Given the description of an element on the screen output the (x, y) to click on. 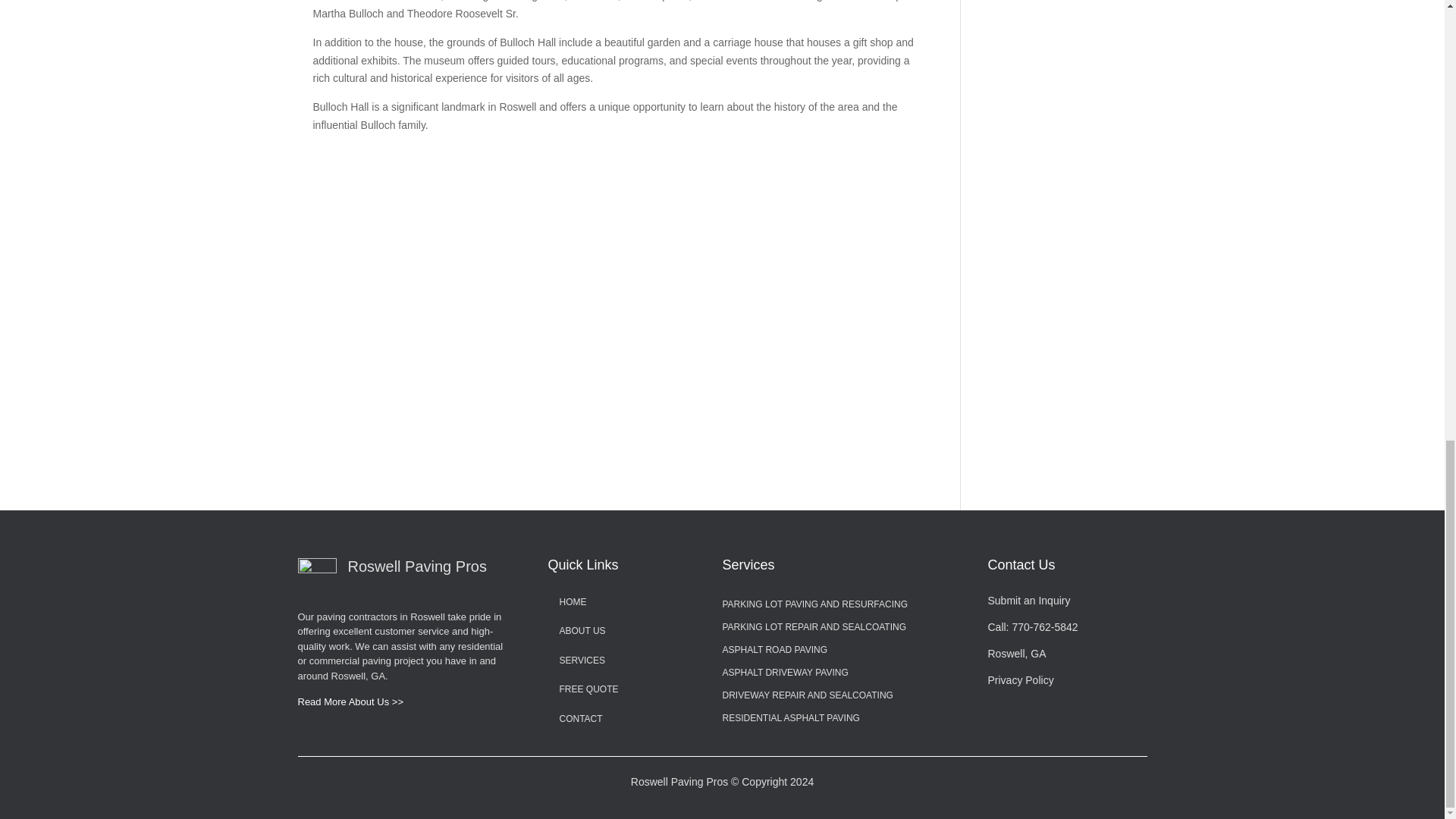
PARKING LOT PAVING AND RESURFACING (814, 606)
Submit an Inquiry (1028, 600)
ABOUT US (582, 630)
ASPHALT ROAD PAVING (774, 652)
Privacy Policy (1019, 680)
Roswell, GA (1016, 653)
DRIVEWAY REPAIR AND SEALCOATING (807, 698)
FREE QUOTE (588, 688)
RESIDENTIAL ASPHALT PAVING (790, 720)
CONTACT (580, 718)
HOME (572, 602)
PARKING LOT REPAIR AND SEALCOATING (813, 629)
SERVICES (582, 660)
Call: 770-762-5842 (1032, 626)
ASPHALT DRIVEWAY PAVING (784, 675)
